Given the description of an element on the screen output the (x, y) to click on. 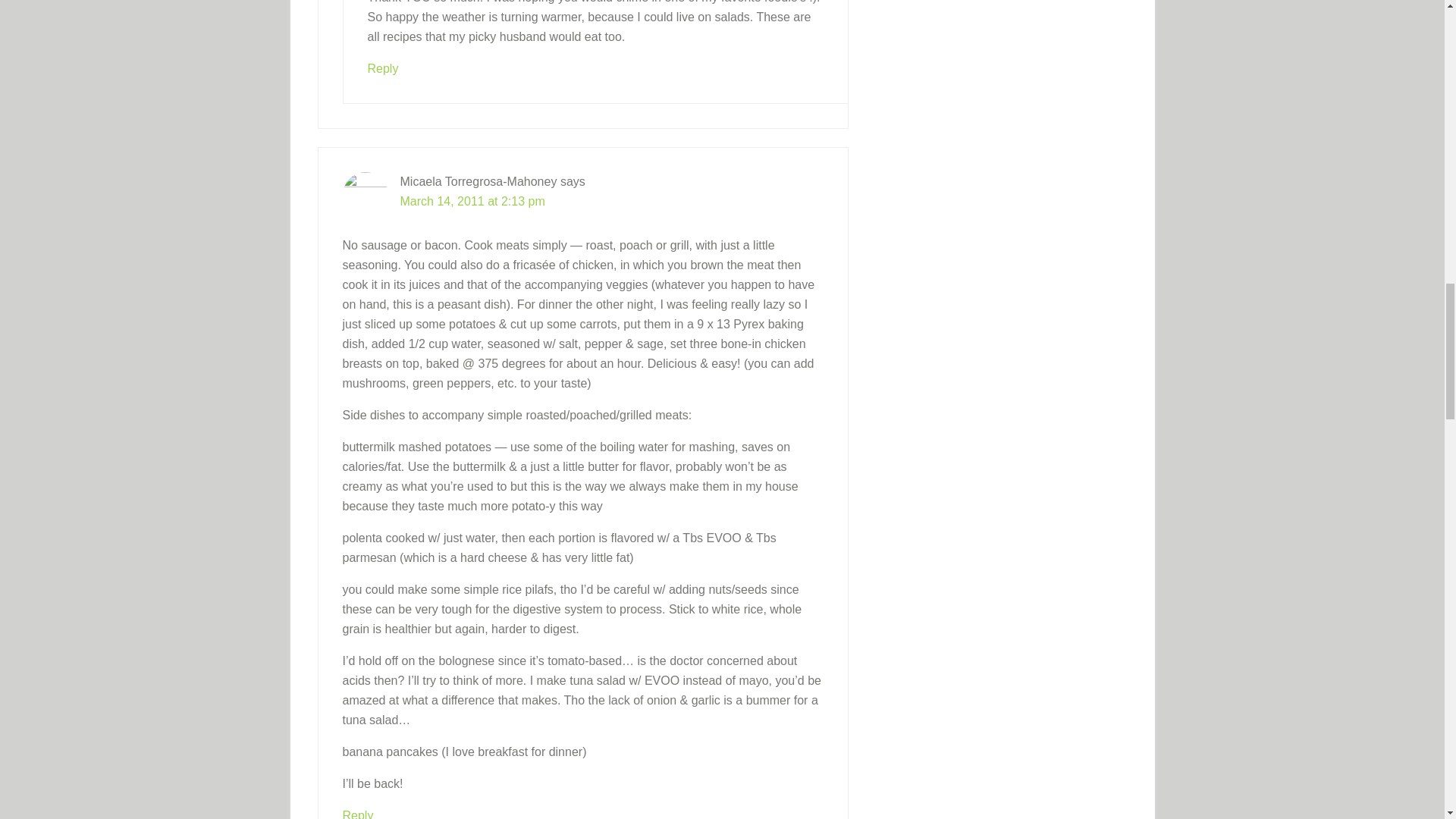
March 14, 2011 at 2:13 pm (472, 200)
Reply (381, 68)
Reply (358, 813)
